Given the description of an element on the screen output the (x, y) to click on. 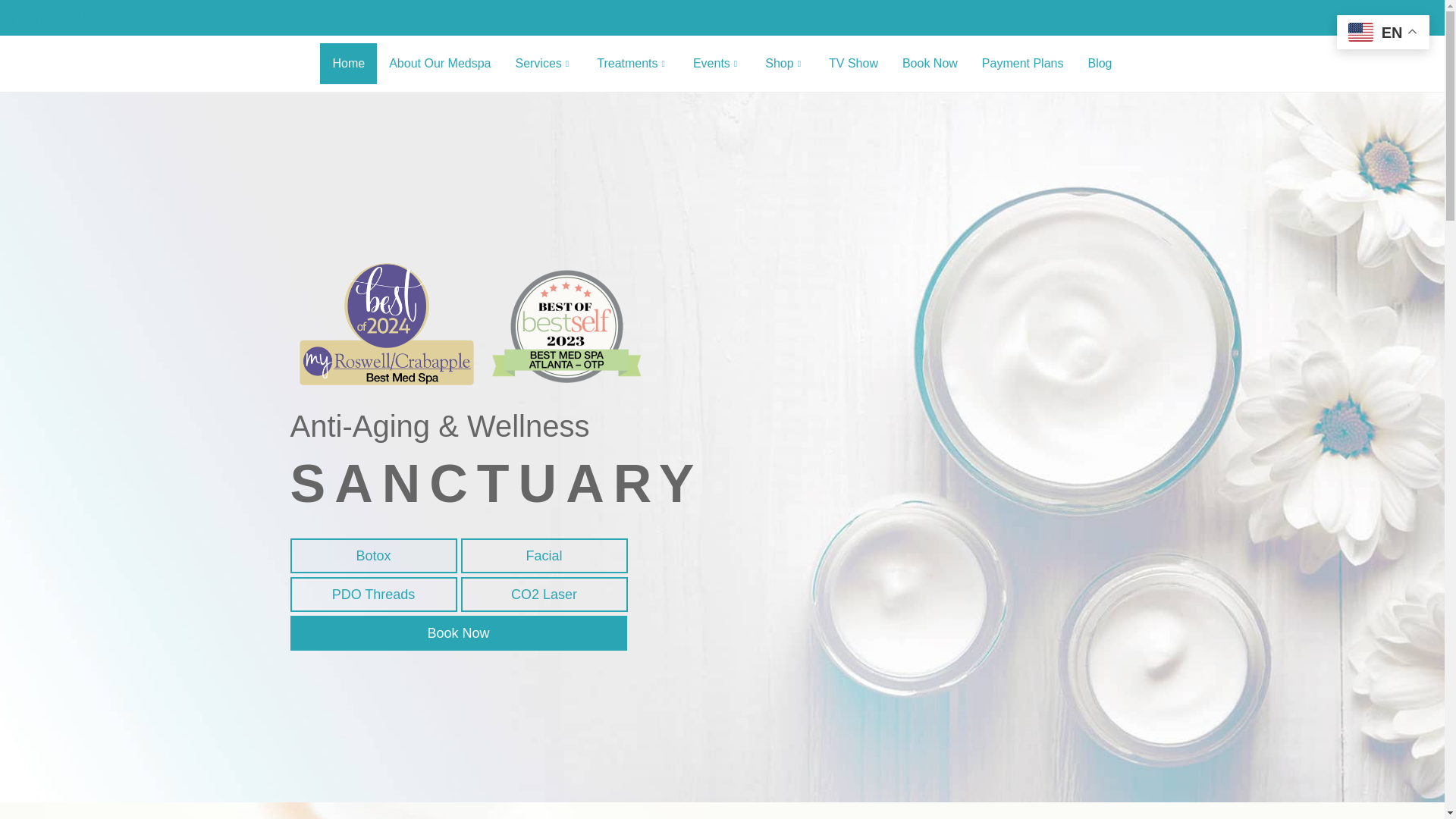
About Our Medspa (439, 63)
Home (348, 63)
Services (543, 63)
